Given the description of an element on the screen output the (x, y) to click on. 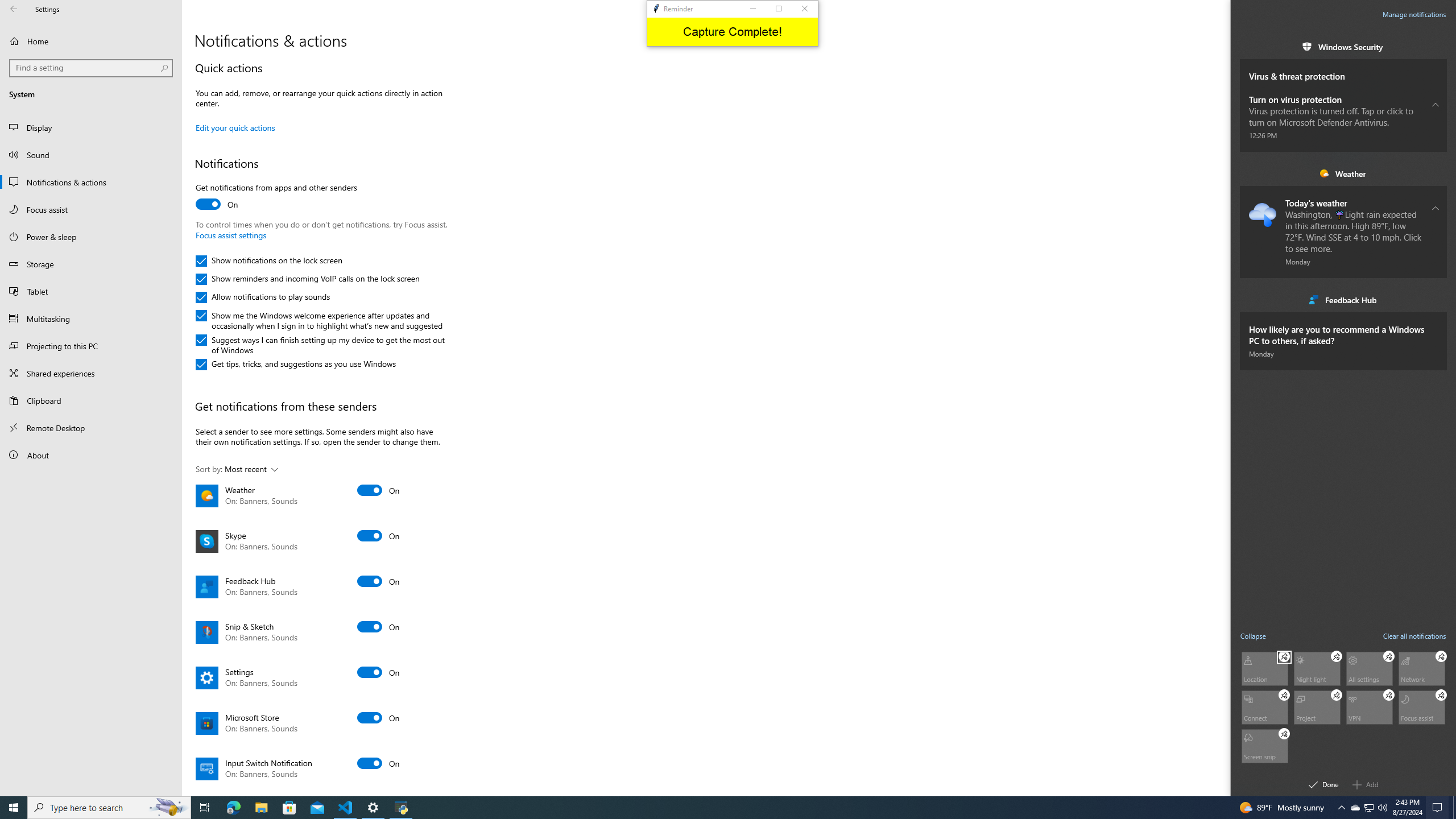
Settings for this notification (1368, 807)
Action Center, No new notifications (1435, 333)
Screen snip (1439, 807)
Add quick actions (1264, 745)
Running applications (1365, 784)
Network (717, 807)
Visual Studio Code - 1 running window (1421, 667)
Connect Unpin (345, 807)
Location (1284, 695)
Focus assist (1264, 667)
Microsoft Store (1421, 706)
Night light Unpin (289, 807)
